Given the description of an element on the screen output the (x, y) to click on. 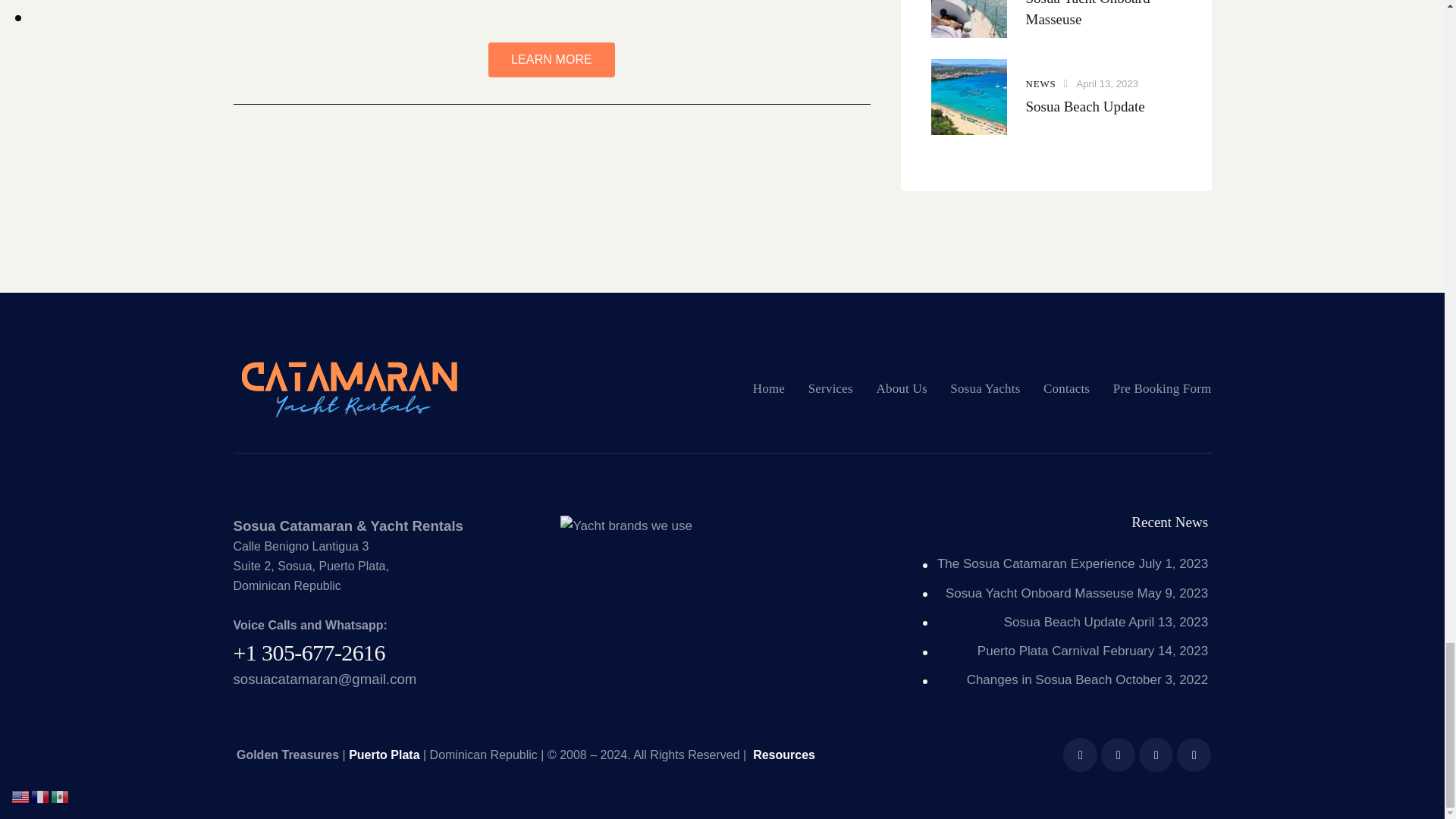
yachts-weuse (626, 526)
